Given the description of an element on the screen output the (x, y) to click on. 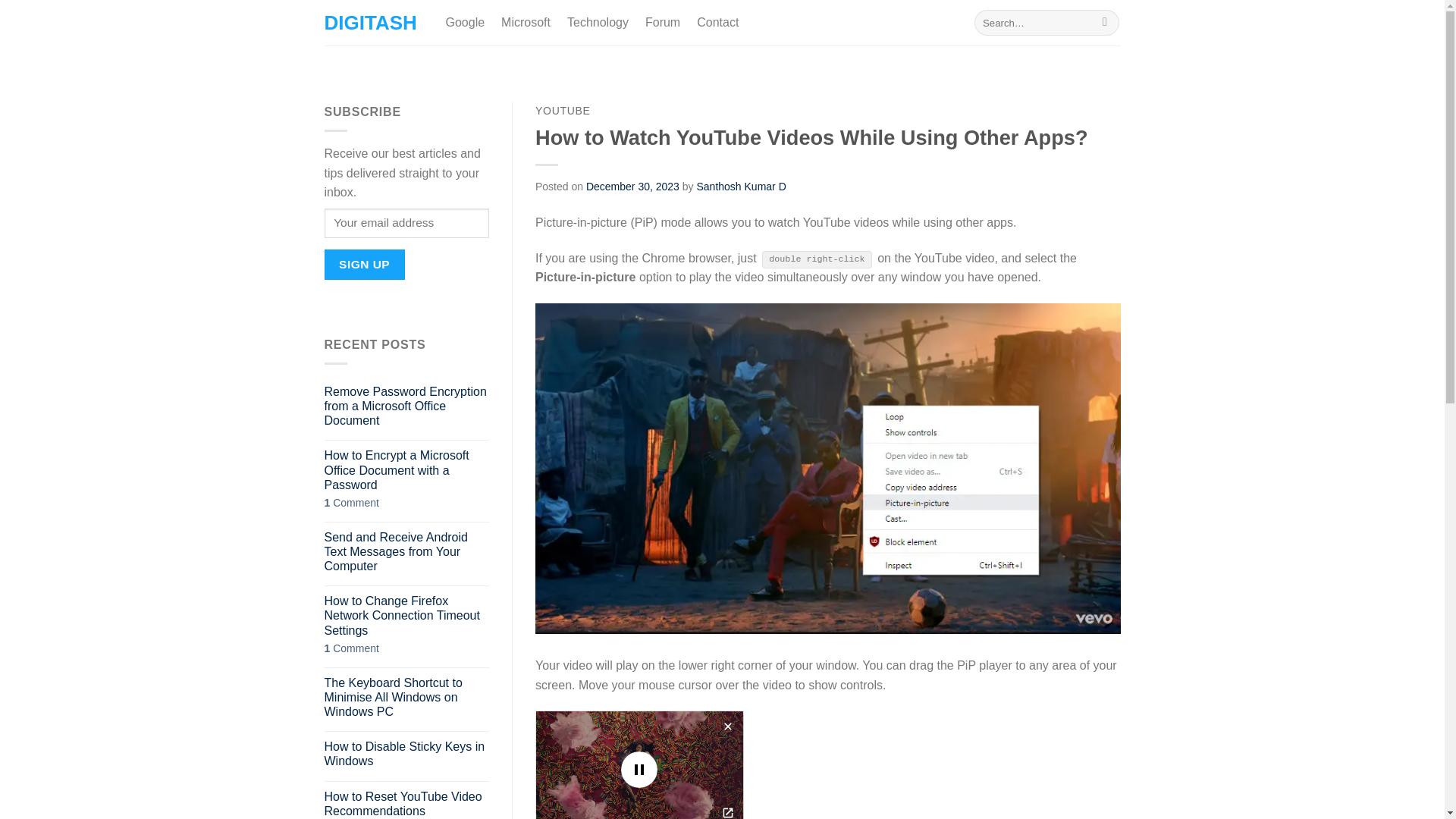
How to Disable Sticky Keys in Windows (406, 753)
Contact (717, 22)
The Keyboard Shortcut to Minimise All Windows on Windows PC (406, 697)
1 Comment (406, 502)
Send and Receive Android Text Messages from Your Computer (406, 551)
The Keyboard Shortcut to Minimise All Windows on Windows PC (406, 697)
How to Change Firefox Network Connection Timeout Settings (406, 615)
Remove Password Encryption from a Microsoft Office Document (406, 406)
Sign up (364, 264)
How to Change Firefox Network Connection Timeout Settings (406, 615)
Technology (597, 22)
1 Comment (406, 648)
How to Reset YouTube Video Recommendations (406, 803)
Send and Receive Android Text Messages from Your Computer (406, 551)
How to Encrypt a Microsoft Office Document with a Password (406, 469)
